Given the description of an element on the screen output the (x, y) to click on. 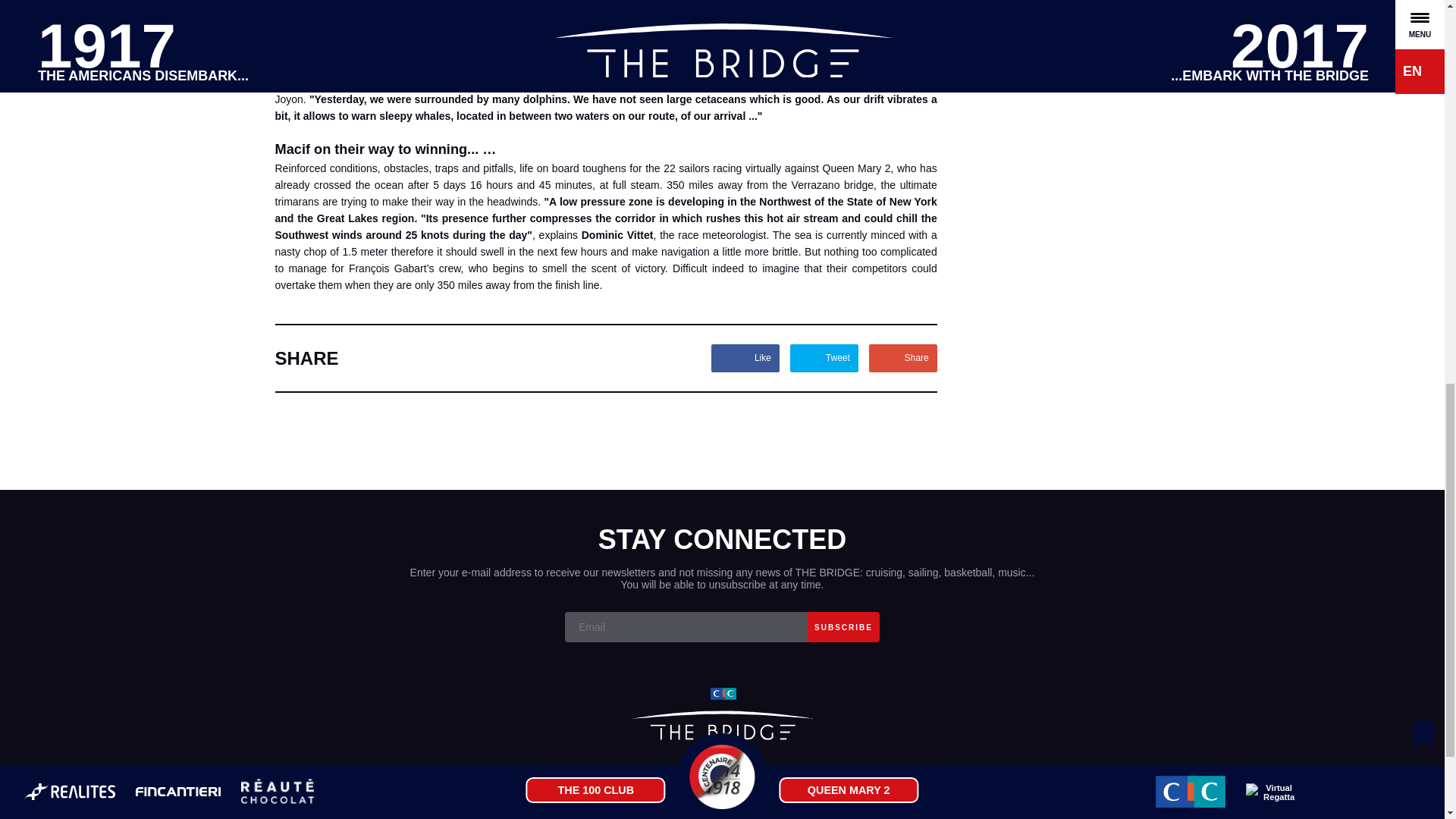
Subscribe (843, 626)
Share on Facebook (744, 357)
Shareon Twitter (824, 357)
